Given the description of an element on the screen output the (x, y) to click on. 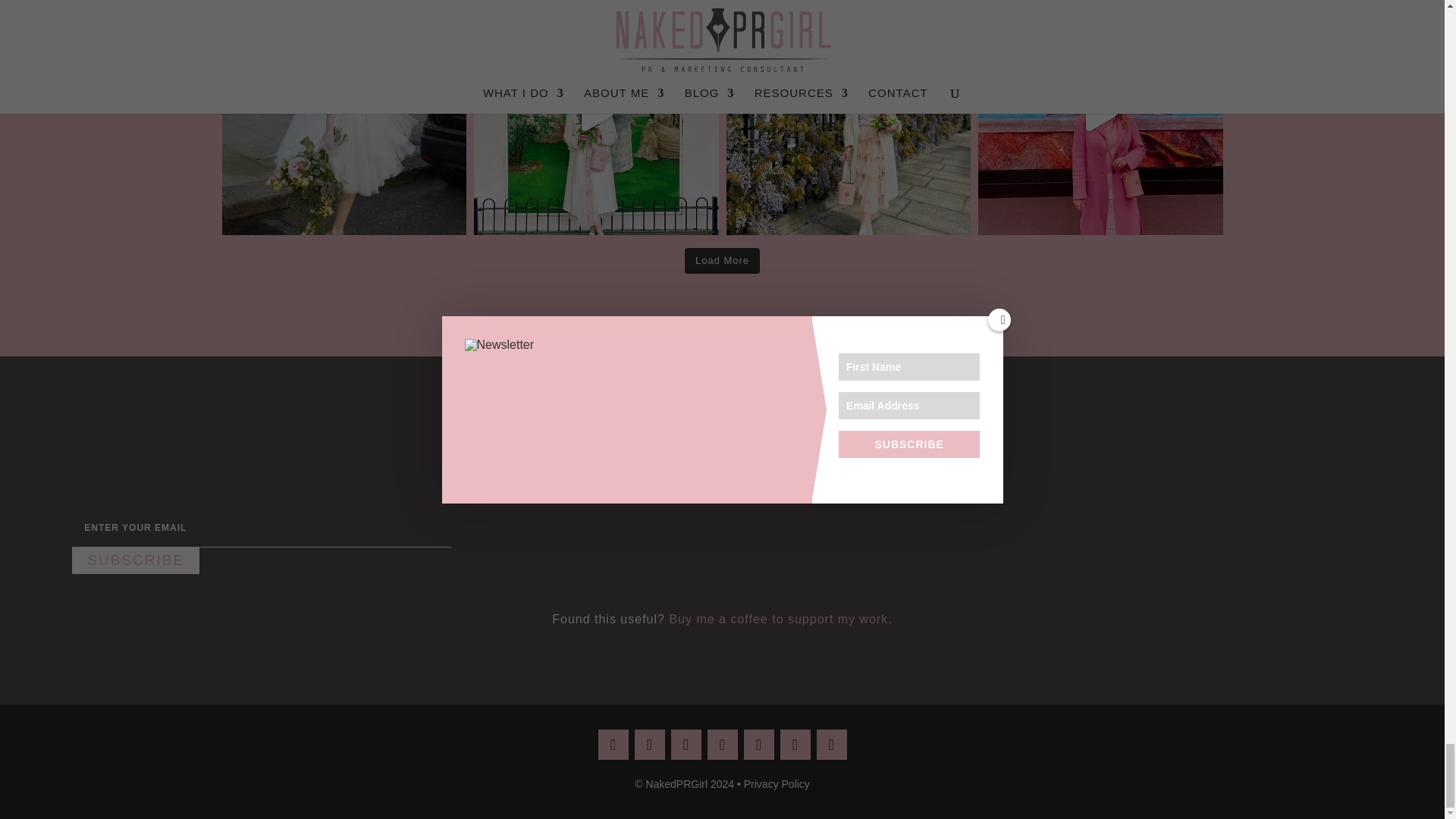
Follow on Instagram (611, 744)
Follow on Pinterest (684, 744)
Follow on LinkedIn (721, 744)
Follow on Facebook (648, 744)
Follow on TikTok (830, 744)
Follow on X (757, 744)
Follow on Youtube (793, 744)
Subscribe (135, 560)
